Given the description of an element on the screen output the (x, y) to click on. 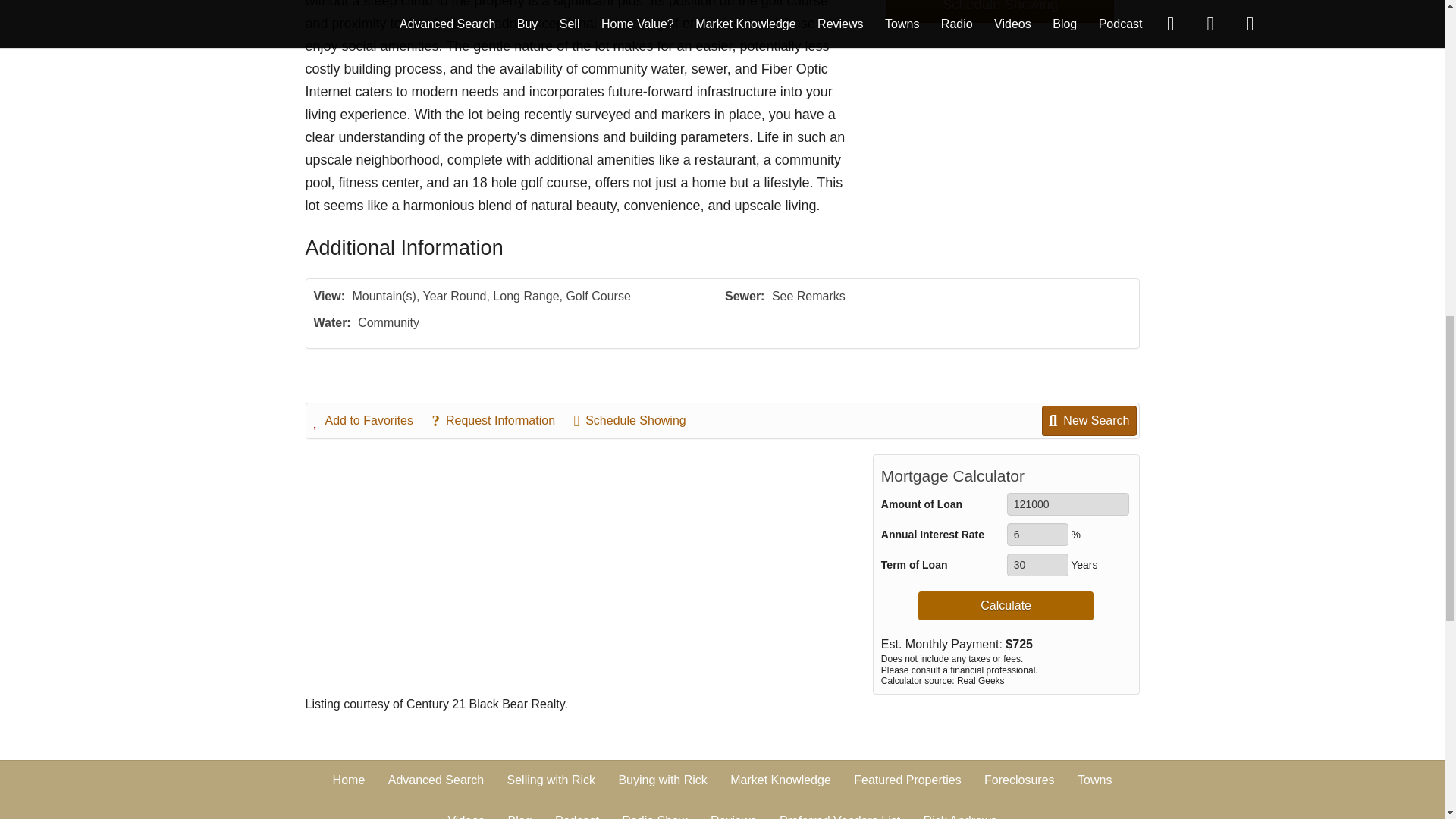
30 (1037, 564)
6 (1037, 534)
121000 (1068, 504)
